Given the description of an element on the screen output the (x, y) to click on. 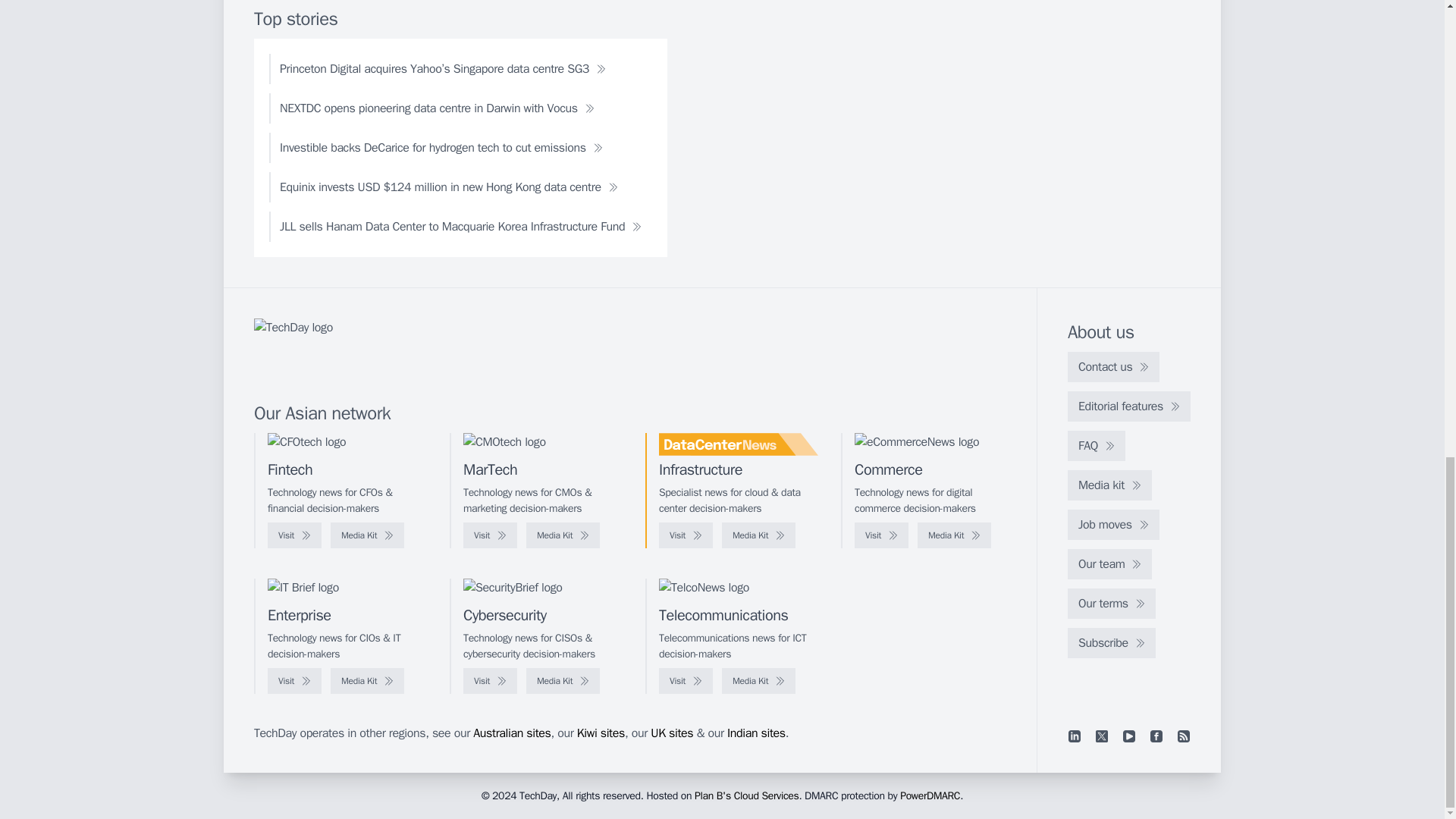
Media Kit (562, 534)
Visit (294, 534)
Investible backs DeCarice for hydrogen tech to cut emissions (440, 147)
Media Kit (954, 534)
Media Kit (367, 534)
Visit (489, 534)
NEXTDC opens pioneering data centre in Darwin with Vocus (437, 108)
Media Kit (758, 534)
Visit (881, 534)
